Given the description of an element on the screen output the (x, y) to click on. 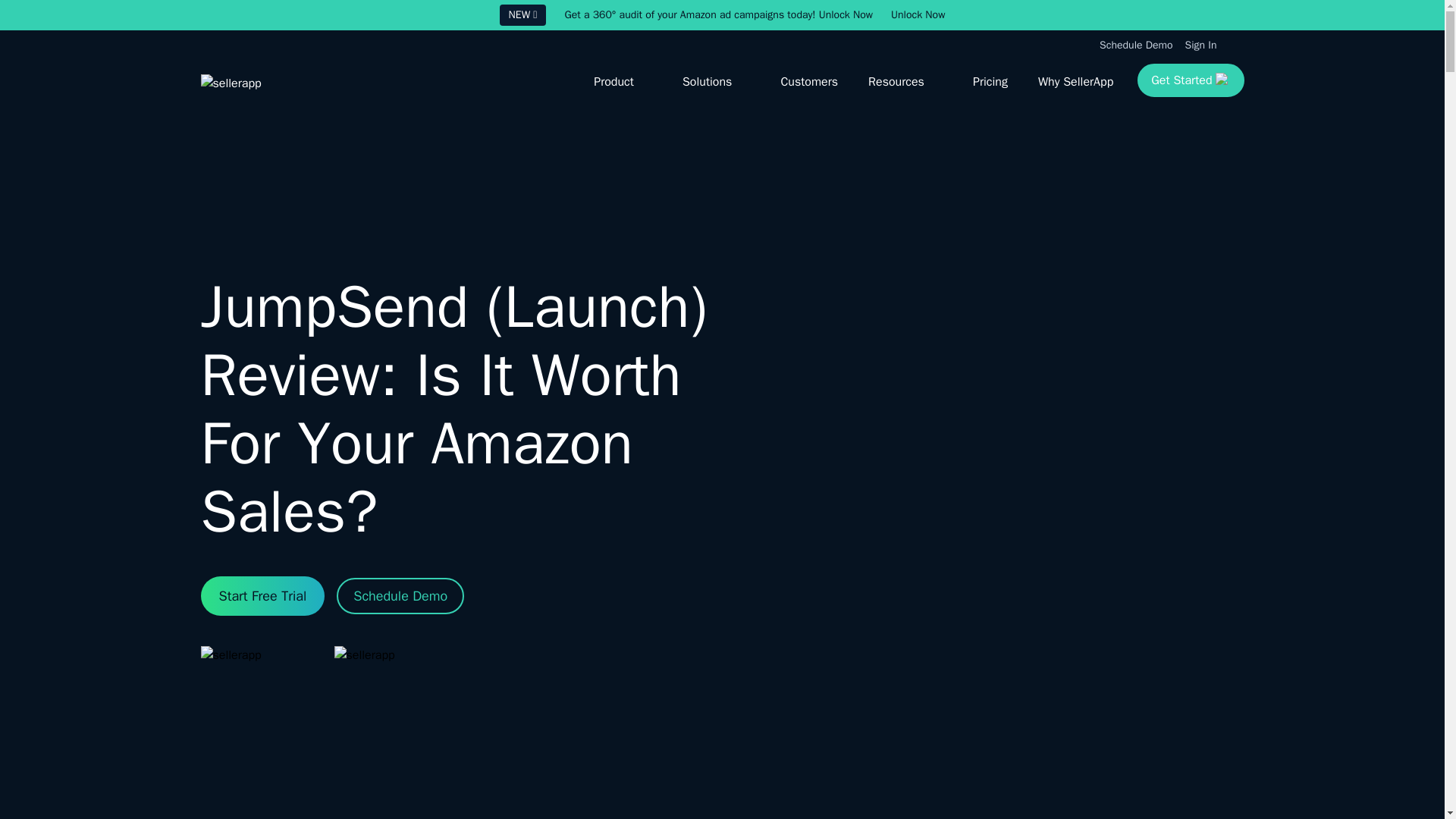
Start Free Trial (262, 595)
Solutions (713, 90)
Sign In (1201, 45)
Get Started (1190, 80)
Resources (901, 90)
Product (620, 90)
Schedule Demo (1135, 45)
Schedule Demo (400, 596)
Customers (806, 90)
Unlock Now (917, 14)
Why SellerApp (1072, 90)
Pricing (986, 90)
